Given the description of an element on the screen output the (x, y) to click on. 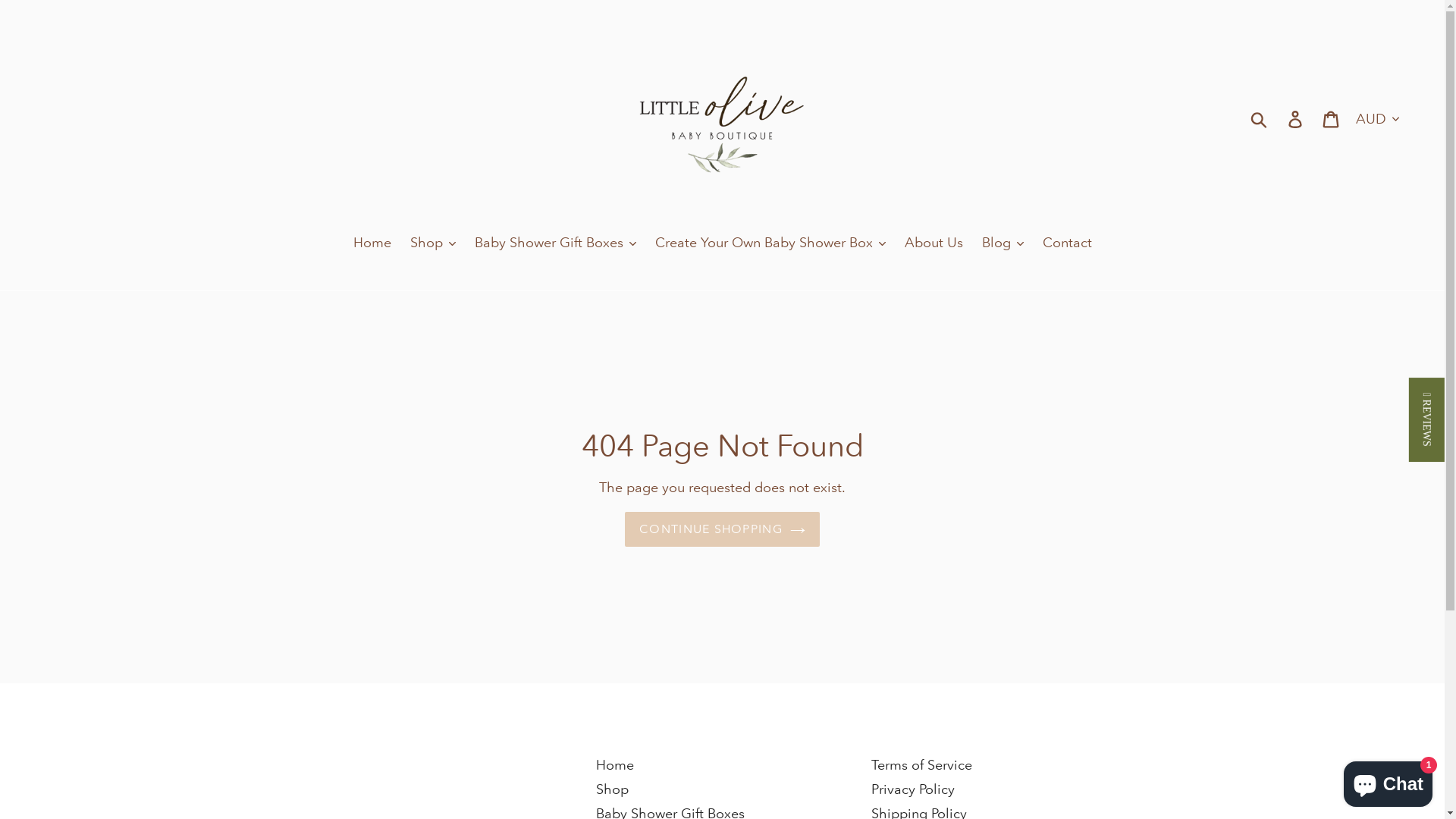
Shopify online store chat Element type: hover (1388, 780)
Home Element type: text (371, 243)
CONTINUE SHOPPING Element type: text (721, 528)
About Us Element type: text (932, 243)
Contact Element type: text (1066, 243)
Home Element type: text (614, 764)
Terms of Service Element type: text (921, 764)
Submit Element type: text (1259, 117)
Log in Element type: text (1296, 117)
Privacy Policy Element type: text (912, 789)
Shop Element type: text (612, 789)
Cart Element type: text (1331, 117)
